Given the description of an element on the screen output the (x, y) to click on. 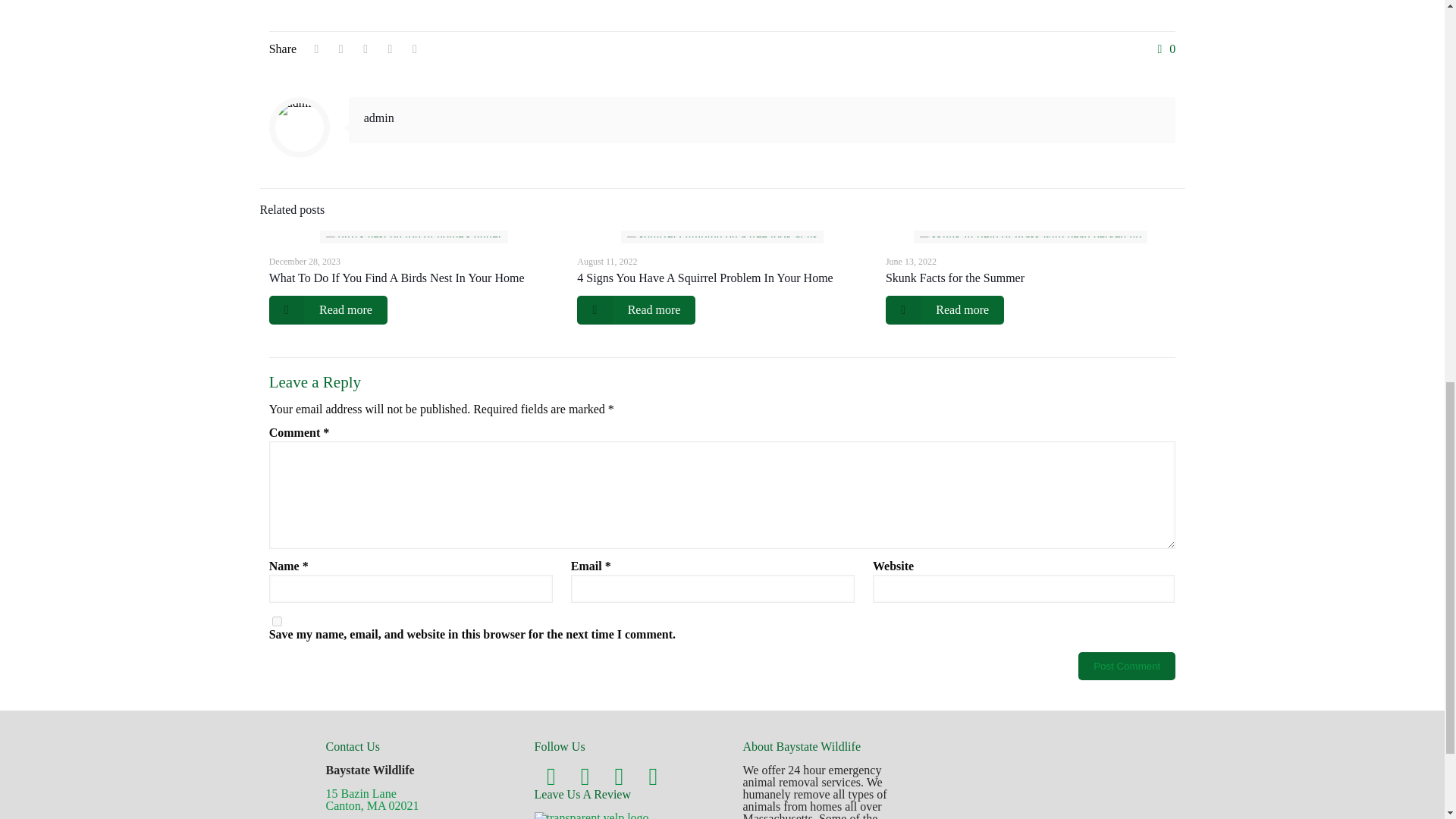
Facebook (550, 776)
yes (277, 621)
RSS (652, 776)
Twitter (584, 776)
Post Comment (1126, 665)
Pinterest (619, 776)
